Given the description of an element on the screen output the (x, y) to click on. 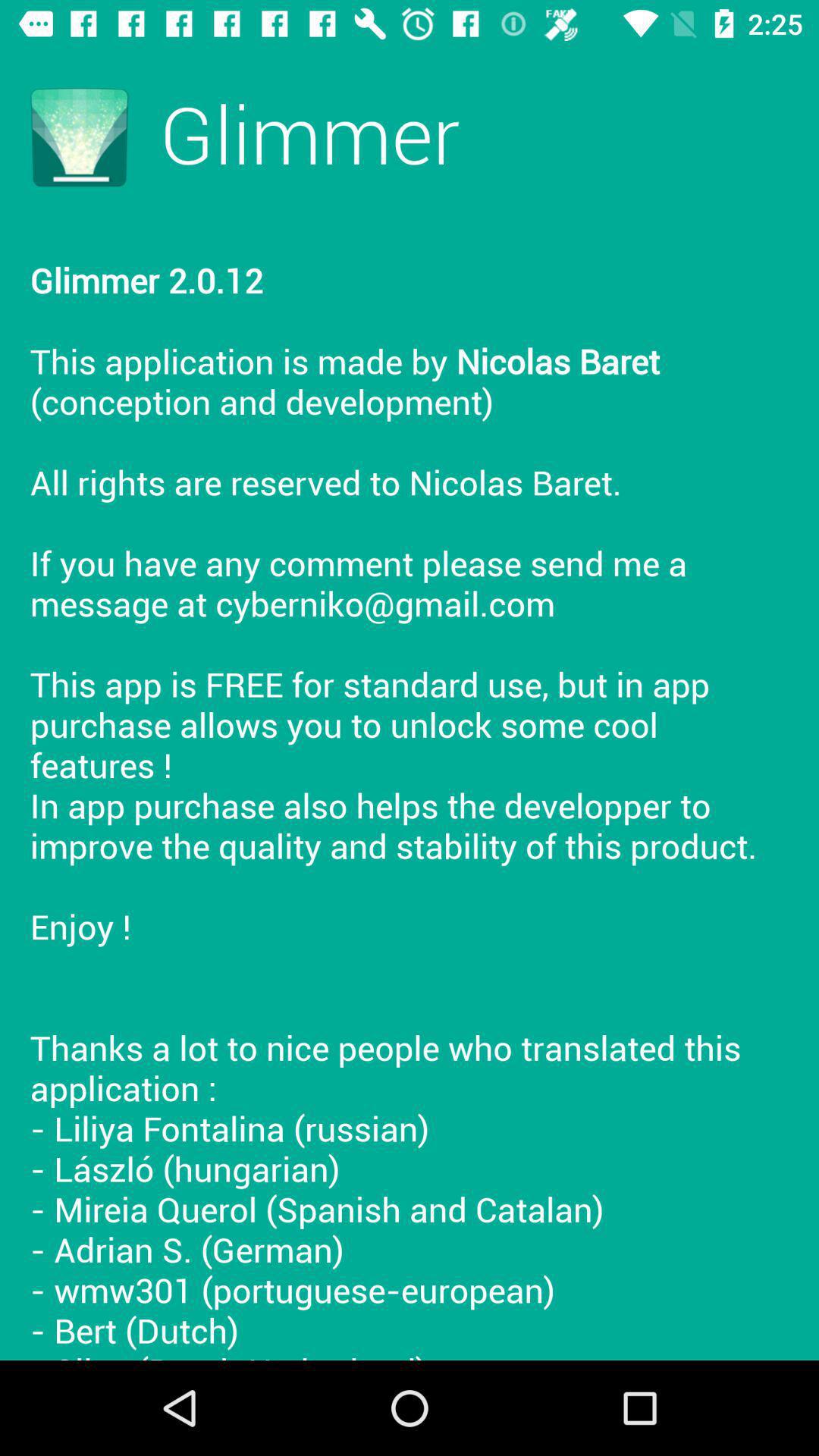
launch the icon at the center (409, 793)
